Given the description of an element on the screen output the (x, y) to click on. 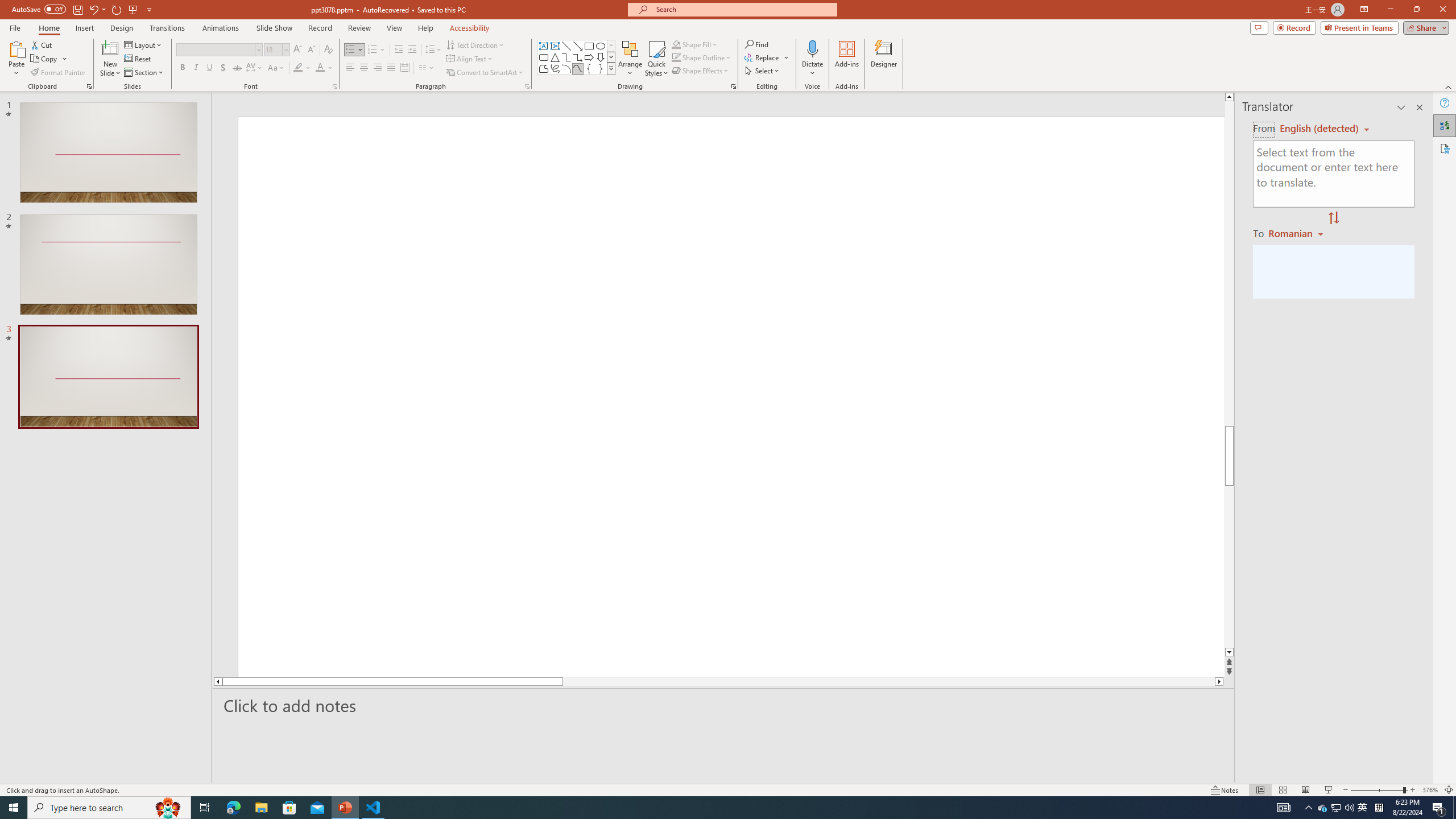
Zoom to Fit  (1449, 790)
Section (144, 72)
Bold (182, 67)
Shape Outline (701, 56)
File Tab (15, 27)
Save (77, 9)
Freeform: Scribble (554, 68)
Line down (1229, 652)
Class: NetUIImage (610, 68)
Slide (108, 376)
Bullets (349, 49)
Czech (detected) (1319, 128)
Numbering (372, 49)
Increase Font Size (297, 49)
